Given the description of an element on the screen output the (x, y) to click on. 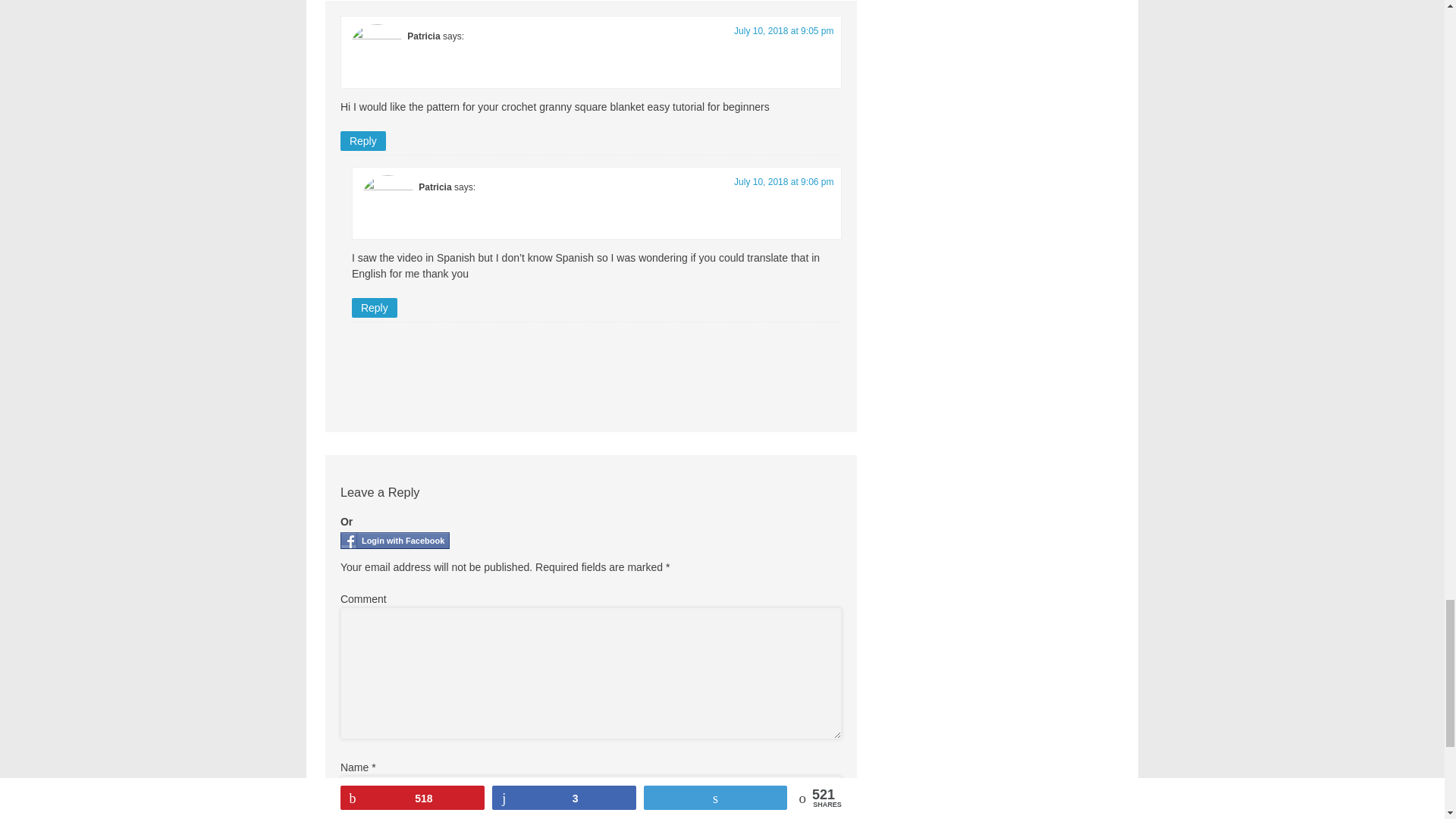
Login with Facebook (394, 540)
